Given the description of an element on the screen output the (x, y) to click on. 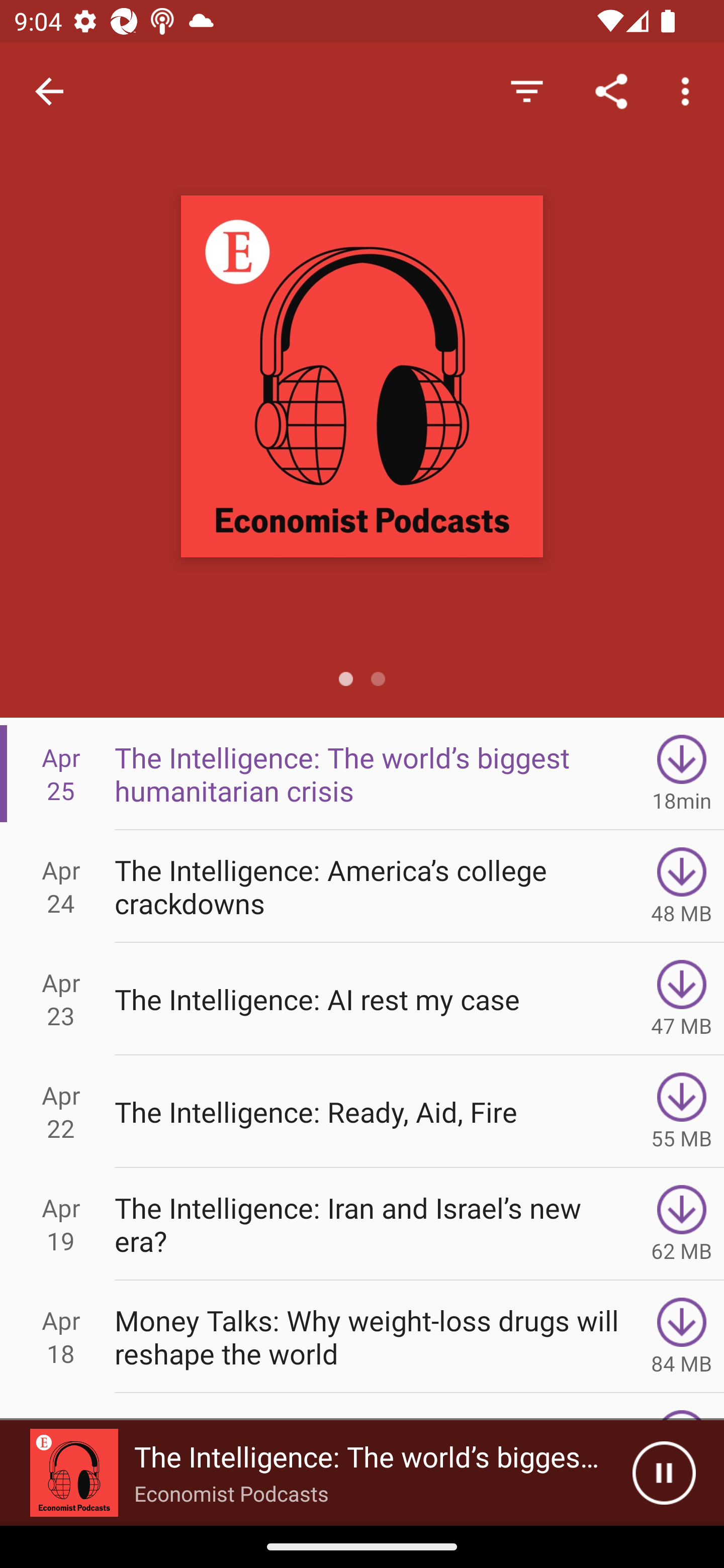
Navigate up (49, 91)
Hide Episodes (526, 90)
Share Link (611, 90)
More options (688, 90)
Download 18min (681, 773)
Download 48 MB (681, 885)
Download 47 MB (681, 998)
Download 55 MB (681, 1111)
Download 62 MB (681, 1224)
Download 84 MB (681, 1336)
Pause (663, 1472)
